Given the description of an element on the screen output the (x, y) to click on. 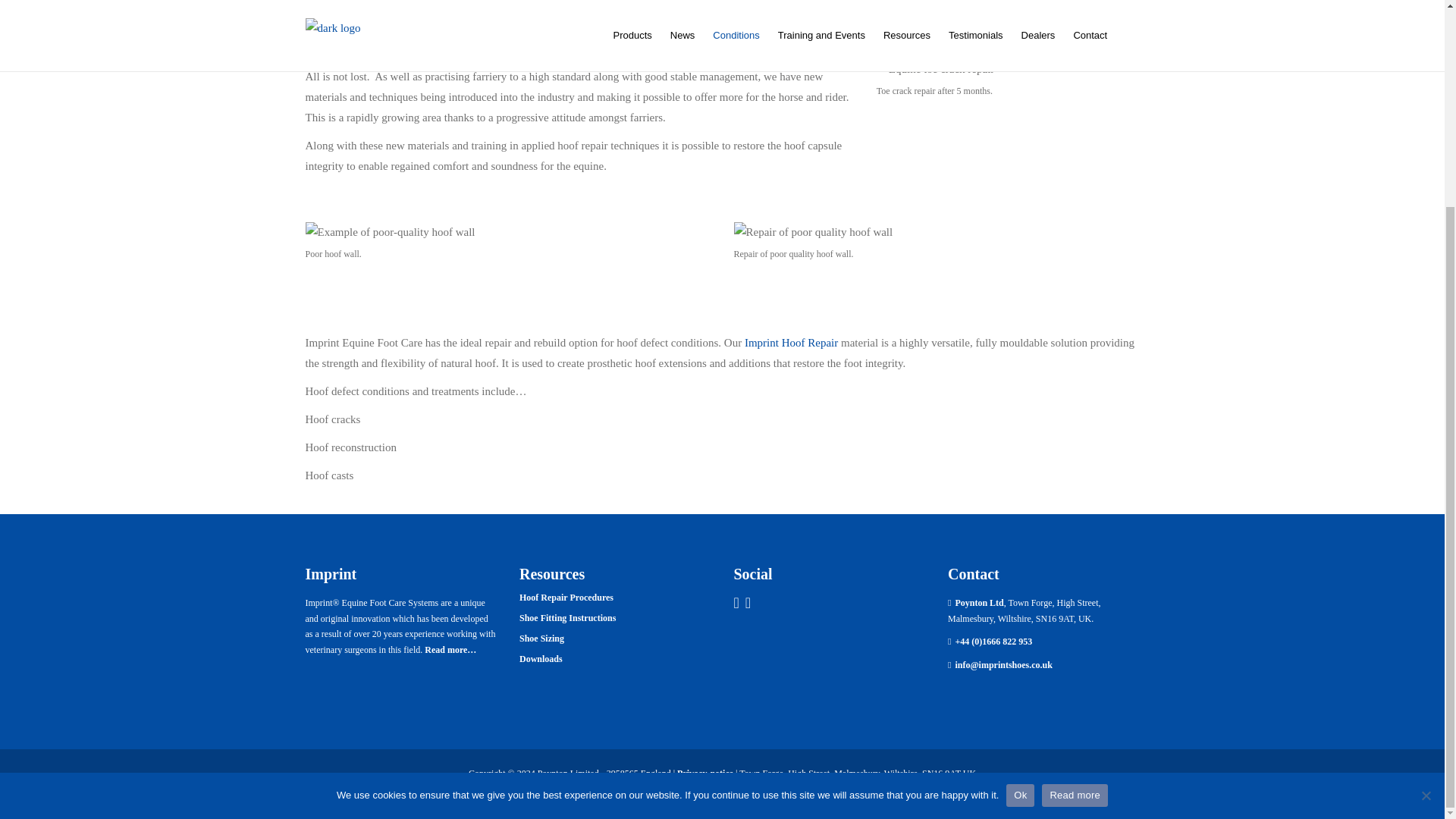
No (1425, 529)
Toe crack repair (935, 68)
Poor hoof wall (389, 231)
Repair of poor hoof wall (813, 231)
